Given the description of an element on the screen output the (x, y) to click on. 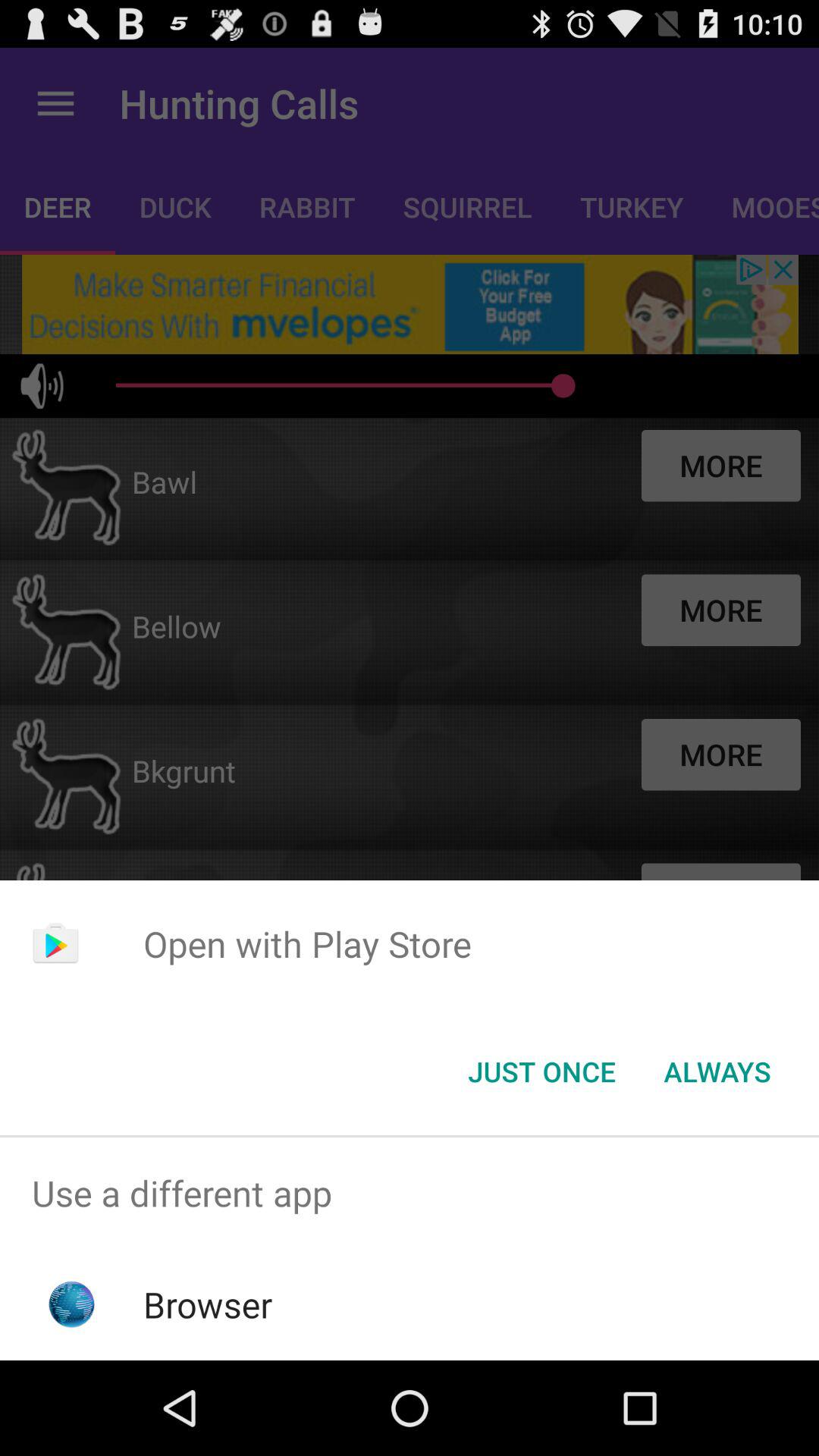
select the use a different (409, 1192)
